Given the description of an element on the screen output the (x, y) to click on. 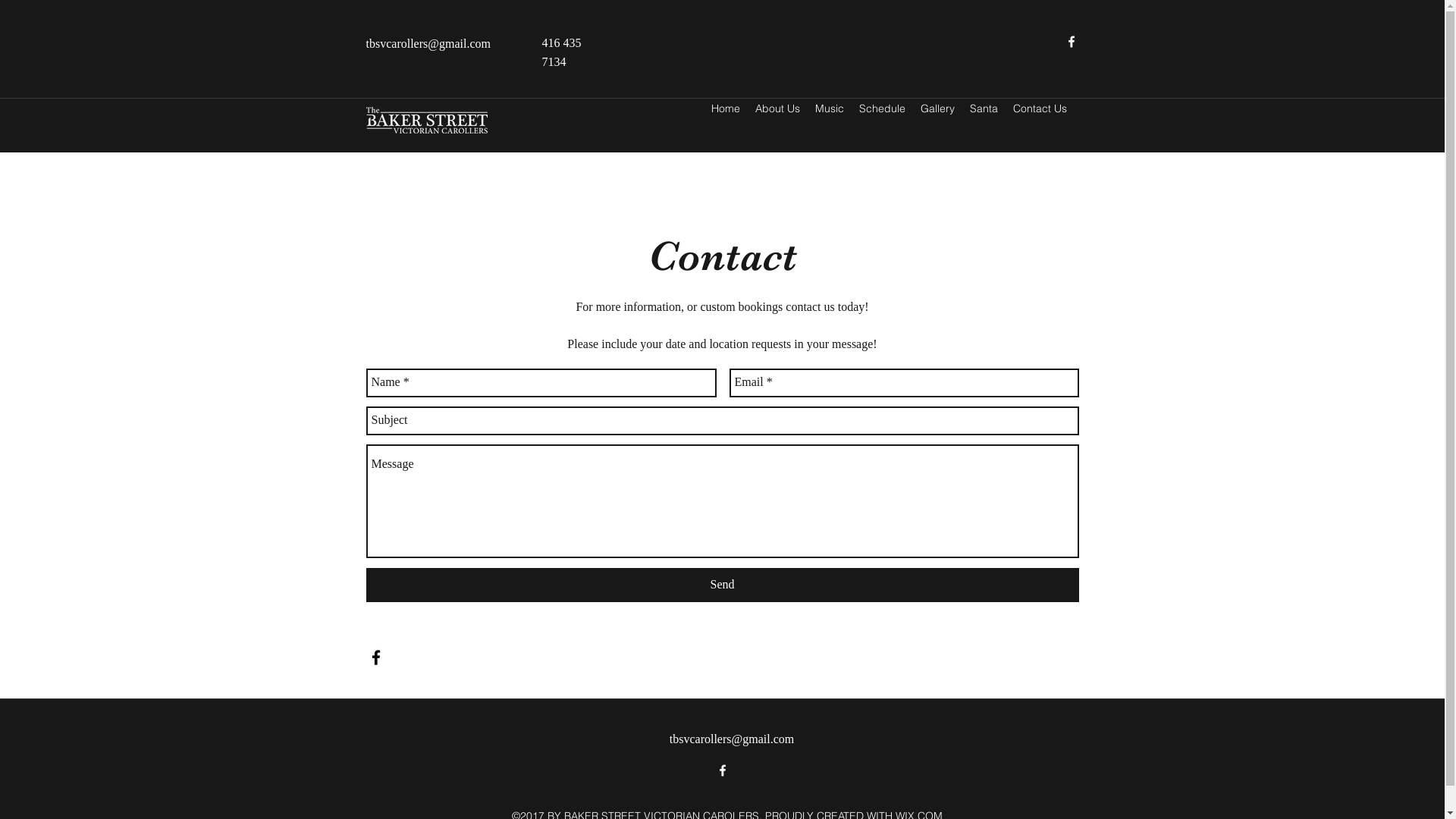
Send Element type: text (721, 584)
Home Element type: text (725, 108)
tbsvcarollers@gmail.com Element type: text (427, 43)
About Us Element type: text (777, 108)
Santa Element type: text (982, 108)
Music Element type: text (828, 108)
Schedule Element type: text (881, 108)
Gallery Element type: text (937, 108)
Contact Us Element type: text (1039, 108)
